Given the description of an element on the screen output the (x, y) to click on. 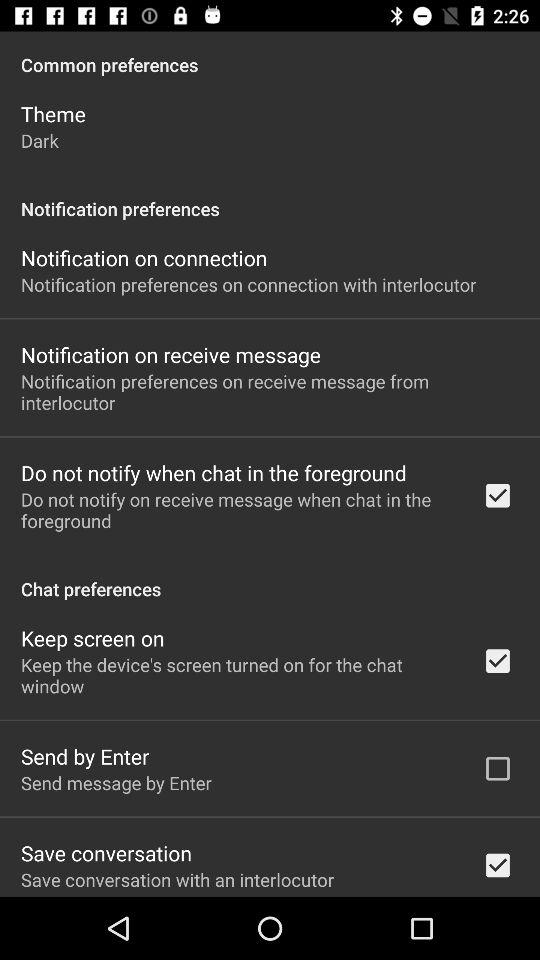
open item below the theme (39, 140)
